Given the description of an element on the screen output the (x, y) to click on. 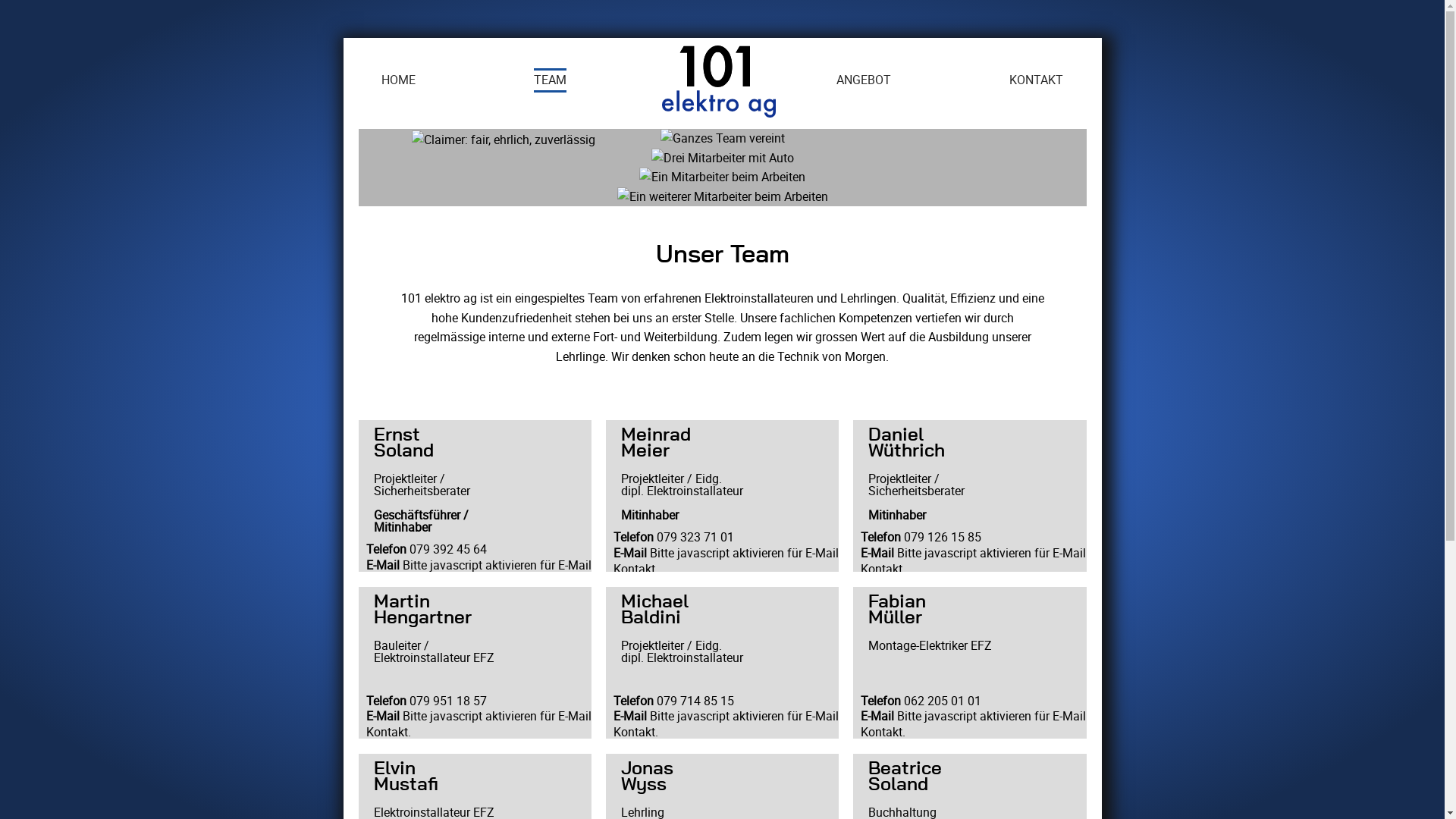
KONTAKT Element type: text (1036, 79)
HOME Element type: text (397, 79)
ANGEBOT Element type: text (863, 79)
TEAM Element type: text (549, 79)
